Given the description of an element on the screen output the (x, y) to click on. 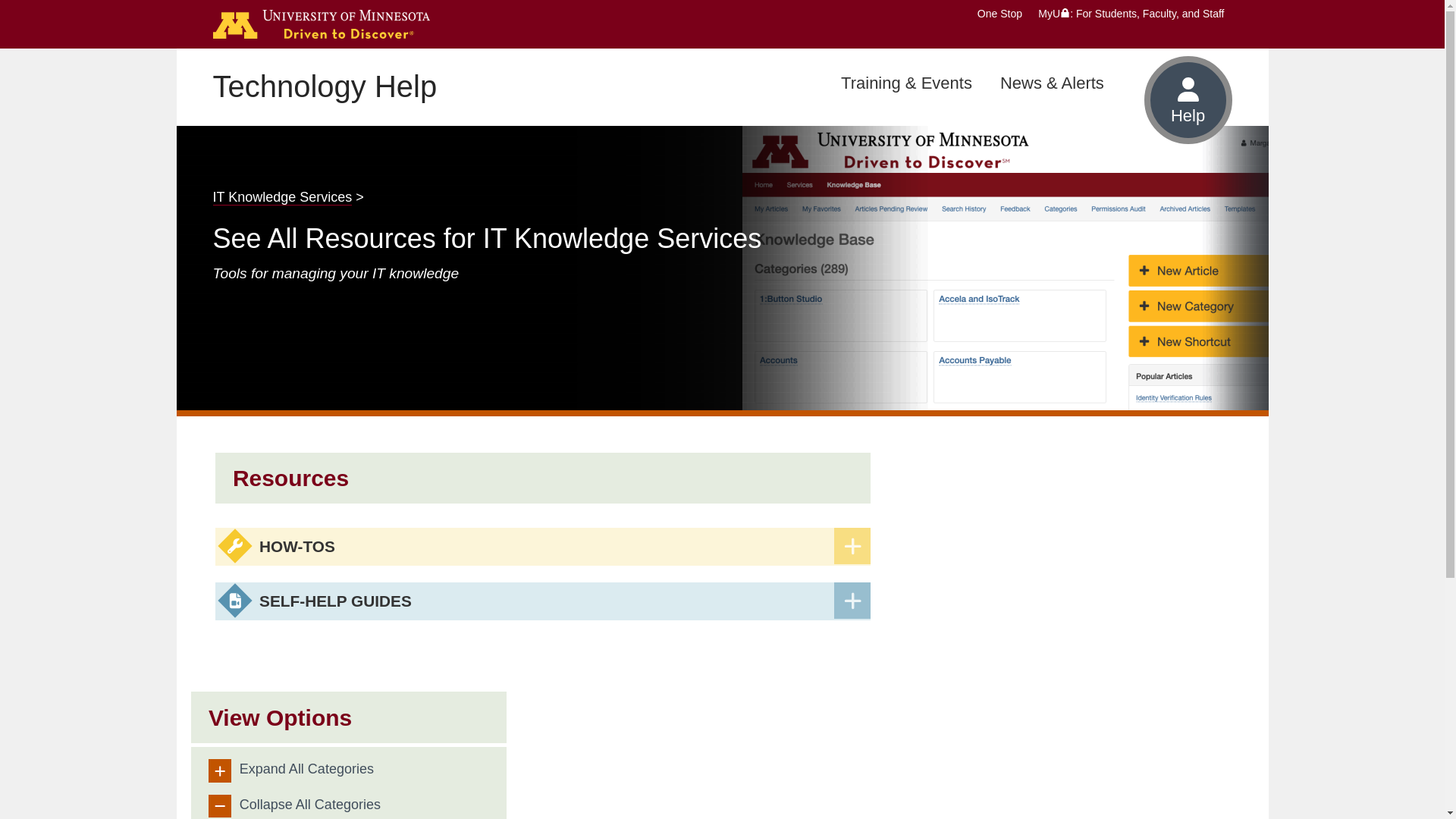
MyU: For Students, Faculty, and Staff (1131, 13)
Help (1186, 100)
IT Knowledge Services (282, 197)
Technology Help (324, 85)
One Stop (999, 13)
